Given the description of an element on the screen output the (x, y) to click on. 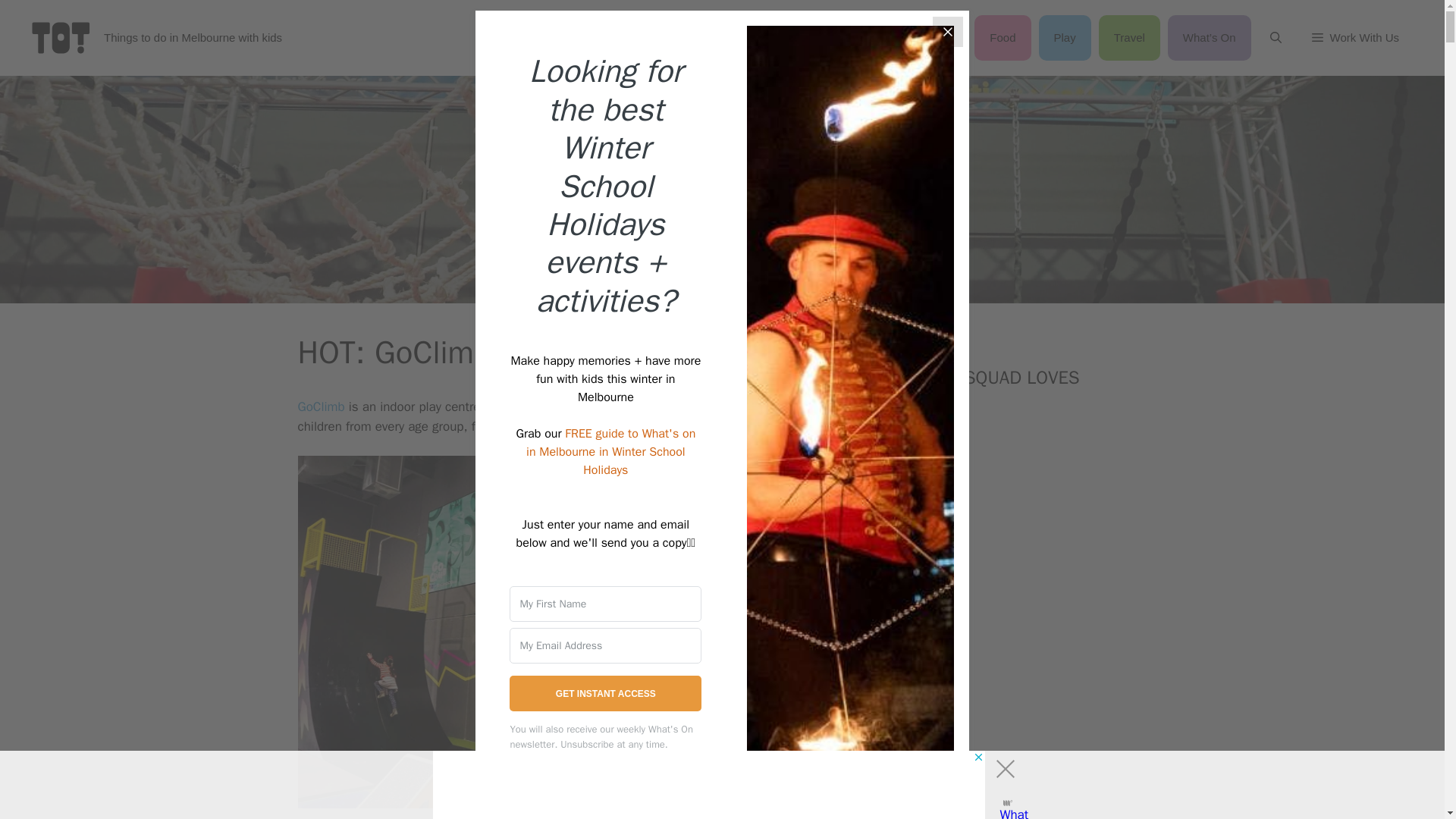
GoClimb (320, 406)
Travel (1129, 37)
Play (1064, 37)
Food (1002, 37)
Work With Us (1355, 37)
